Given the description of an element on the screen output the (x, y) to click on. 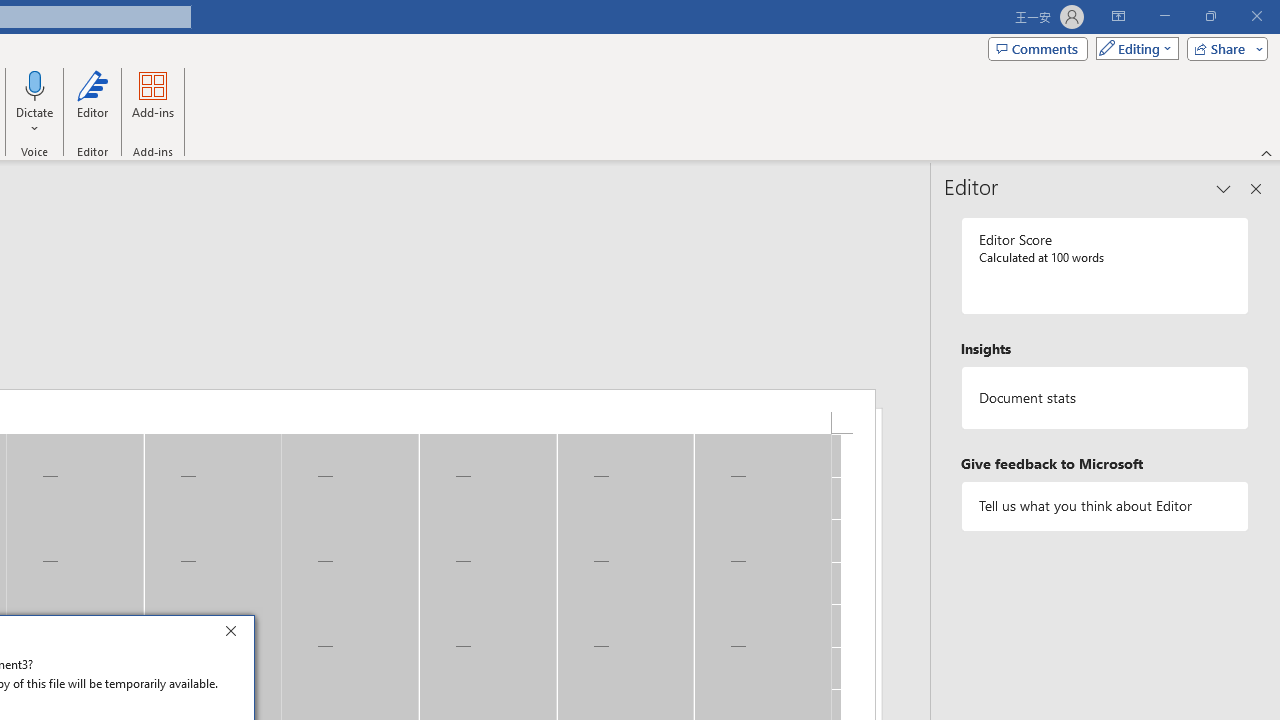
Document statistics (1105, 398)
